Given the description of an element on the screen output the (x, y) to click on. 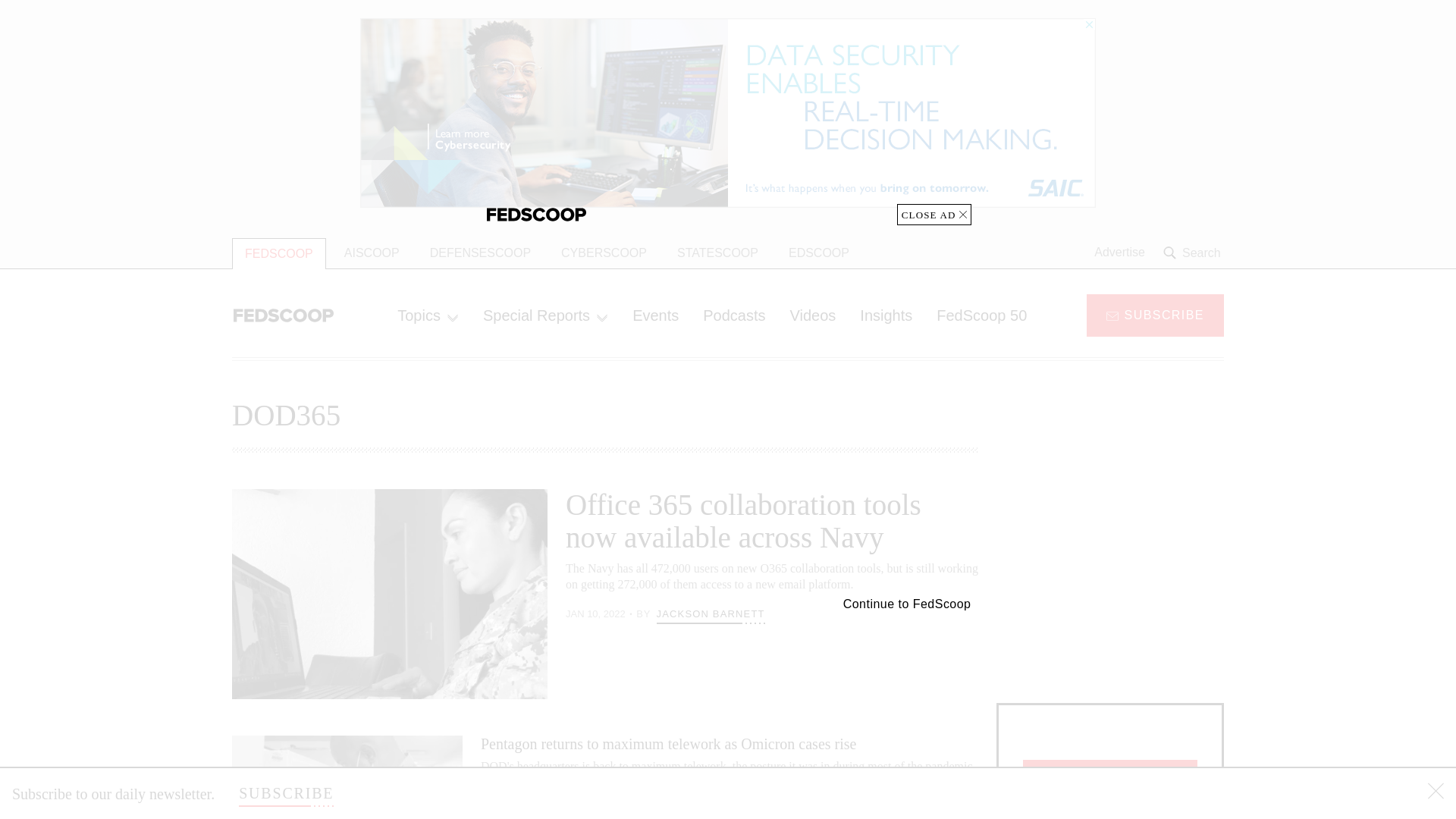
Podcasts (733, 315)
Events (655, 315)
Videos (812, 315)
3rd party ad content (1109, 583)
DEFENSESCOOP (480, 253)
EDSCOOP (818, 253)
Insights (885, 315)
Advertise (1119, 252)
AISCOOP (371, 253)
Special Reports (545, 315)
Topics (427, 315)
STATESCOOP (717, 253)
